Given the description of an element on the screen output the (x, y) to click on. 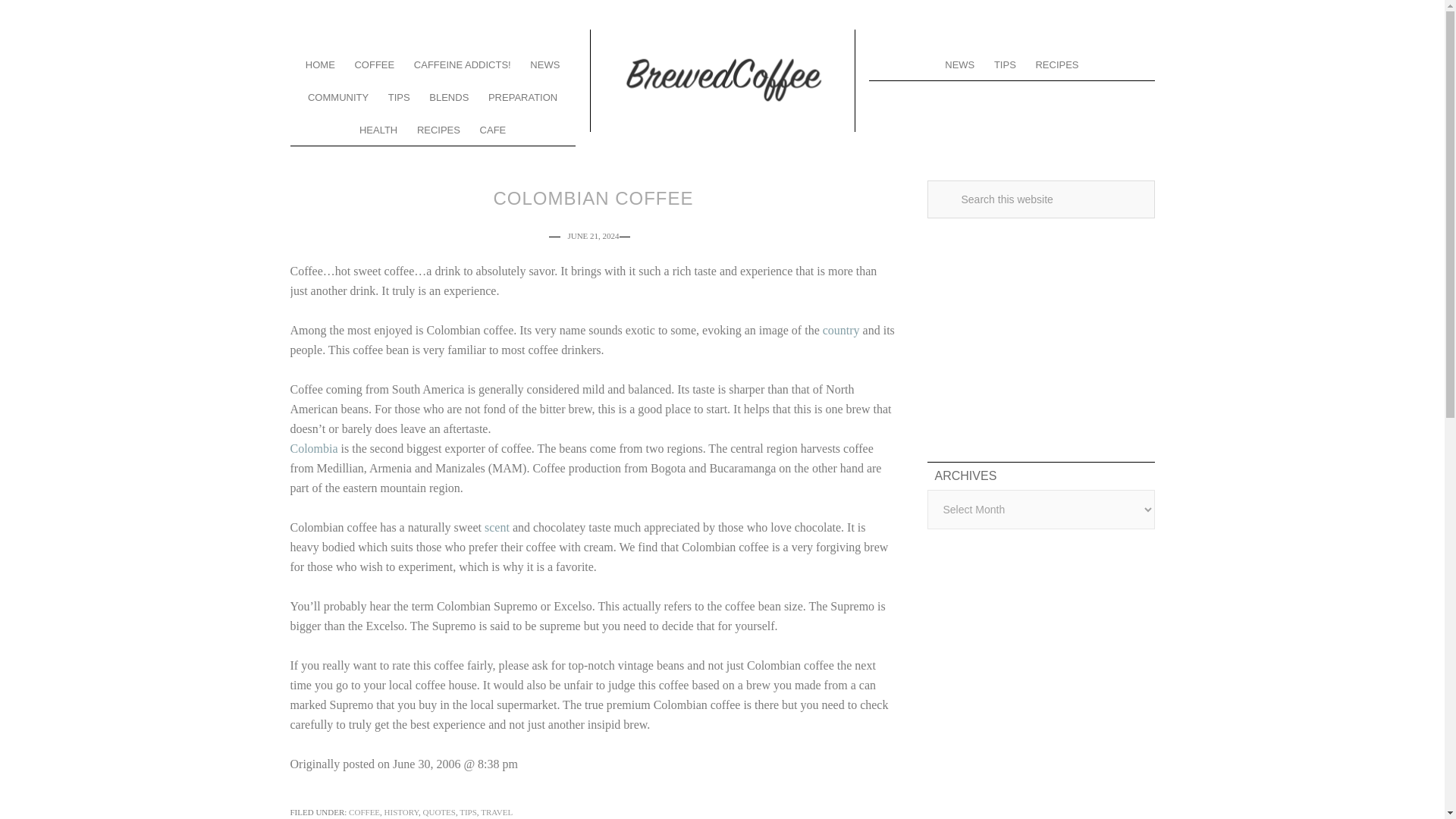
RECIPES (438, 129)
CAFFEINE ADDICTS! (462, 63)
Colombia (313, 448)
BREWED COFFEE (721, 80)
Advertisement (1040, 686)
CAFE (493, 129)
RECIPES (1056, 63)
scent (496, 526)
country (841, 329)
COFFEE (364, 811)
Advertisement (1040, 337)
NEWS (544, 63)
TIPS (399, 96)
